Given the description of an element on the screen output the (x, y) to click on. 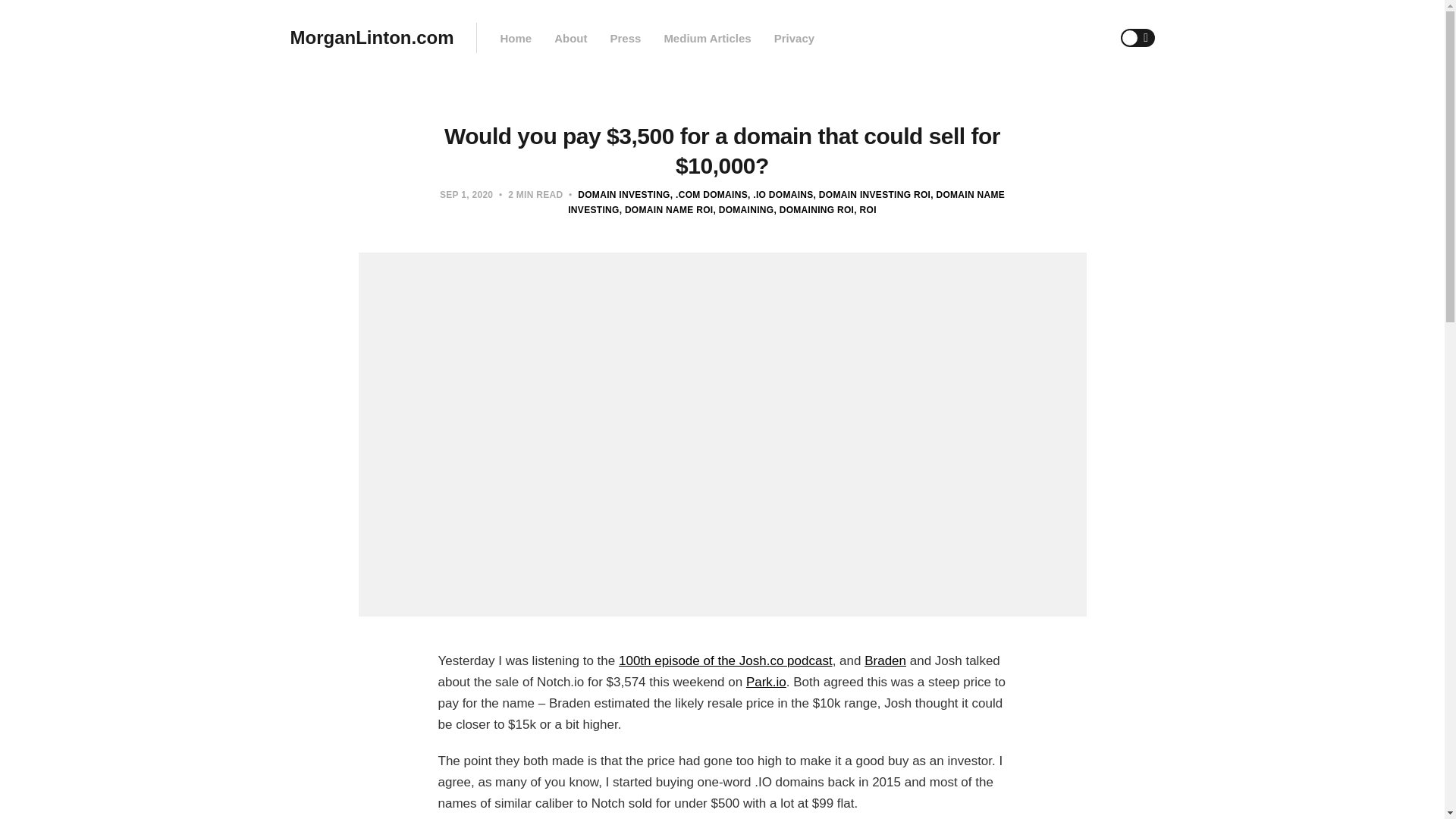
domain name investing (785, 202)
Braden (884, 660)
DOMAIN INVESTING (623, 194)
ROI (864, 209)
DOMAINING ROI (813, 209)
domain name roi (666, 209)
DOMAIN NAME INVESTING (785, 202)
Domaining (743, 209)
About (570, 38)
.IO DOMAINS (780, 194)
